Given the description of an element on the screen output the (x, y) to click on. 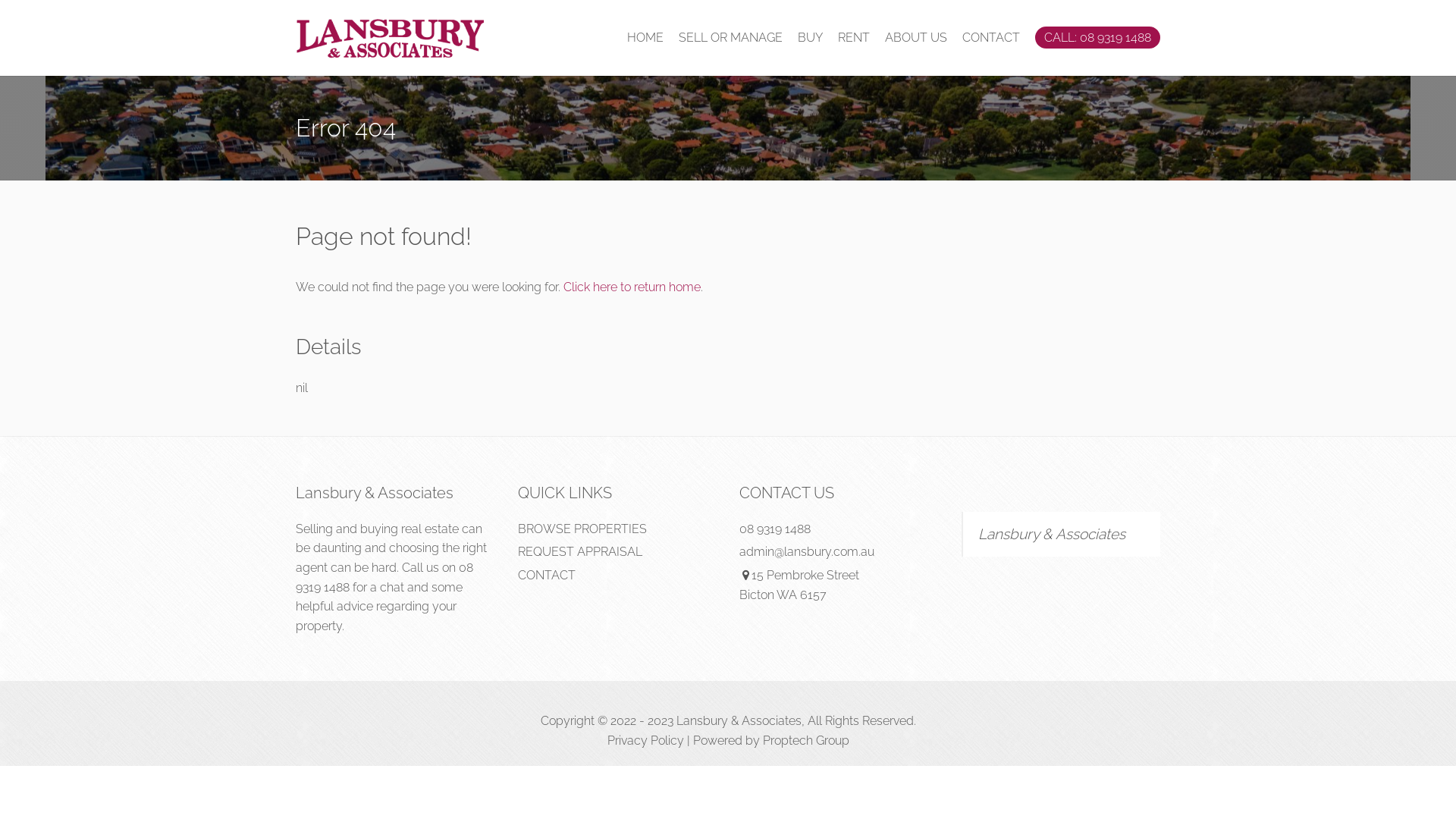
Proptech Group Element type: text (805, 740)
Click here to return home Element type: text (631, 286)
HOME Element type: text (645, 37)
admin@lansbury.com.au Element type: text (806, 551)
BROWSE PROPERTIES Element type: text (581, 528)
08 9319 1488 Element type: text (774, 528)
Lansbury & Associates Element type: text (1051, 533)
08 9319 1488 Element type: text (384, 577)
CALL: 08 9319 1488 Element type: text (1097, 37)
CONTACT Element type: text (990, 37)
RENT Element type: text (853, 37)
CONTACT Element type: text (545, 574)
REQUEST APPRAISAL Element type: text (579, 551)
Privacy Policy Element type: text (644, 740)
ABOUT US Element type: text (915, 37)
BUY Element type: text (809, 37)
SELL OR MANAGE Element type: text (730, 37)
